Given the description of an element on the screen output the (x, y) to click on. 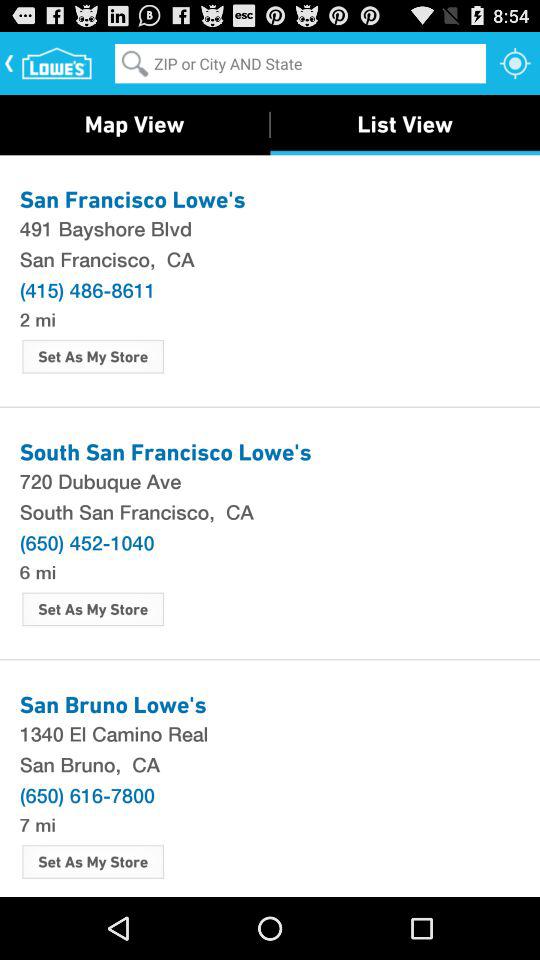
swipe to 491 bayshore blvd icon (269, 227)
